Given the description of an element on the screen output the (x, y) to click on. 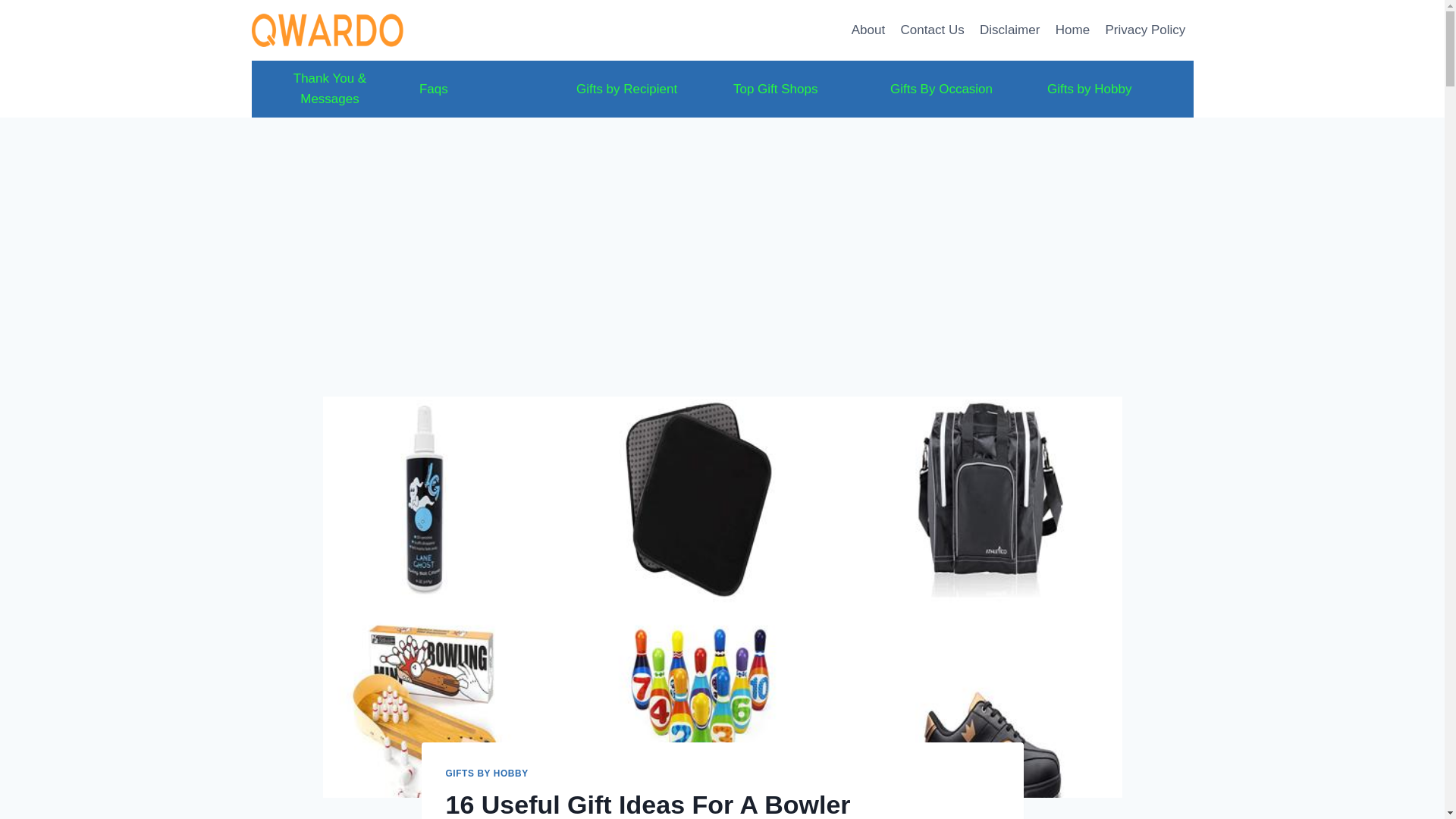
Home (1072, 30)
Gifts by Recipient (644, 88)
Faqs (485, 88)
Advertisement (722, 284)
Disclaimer (1010, 30)
Gifts By Occasion (957, 88)
Privacy Policy (1144, 30)
Contact Us (931, 30)
Top Gift Shops (800, 88)
About (868, 30)
GIFTS BY HOBBY (486, 773)
Gifts by Hobby (1113, 88)
